Given the description of an element on the screen output the (x, y) to click on. 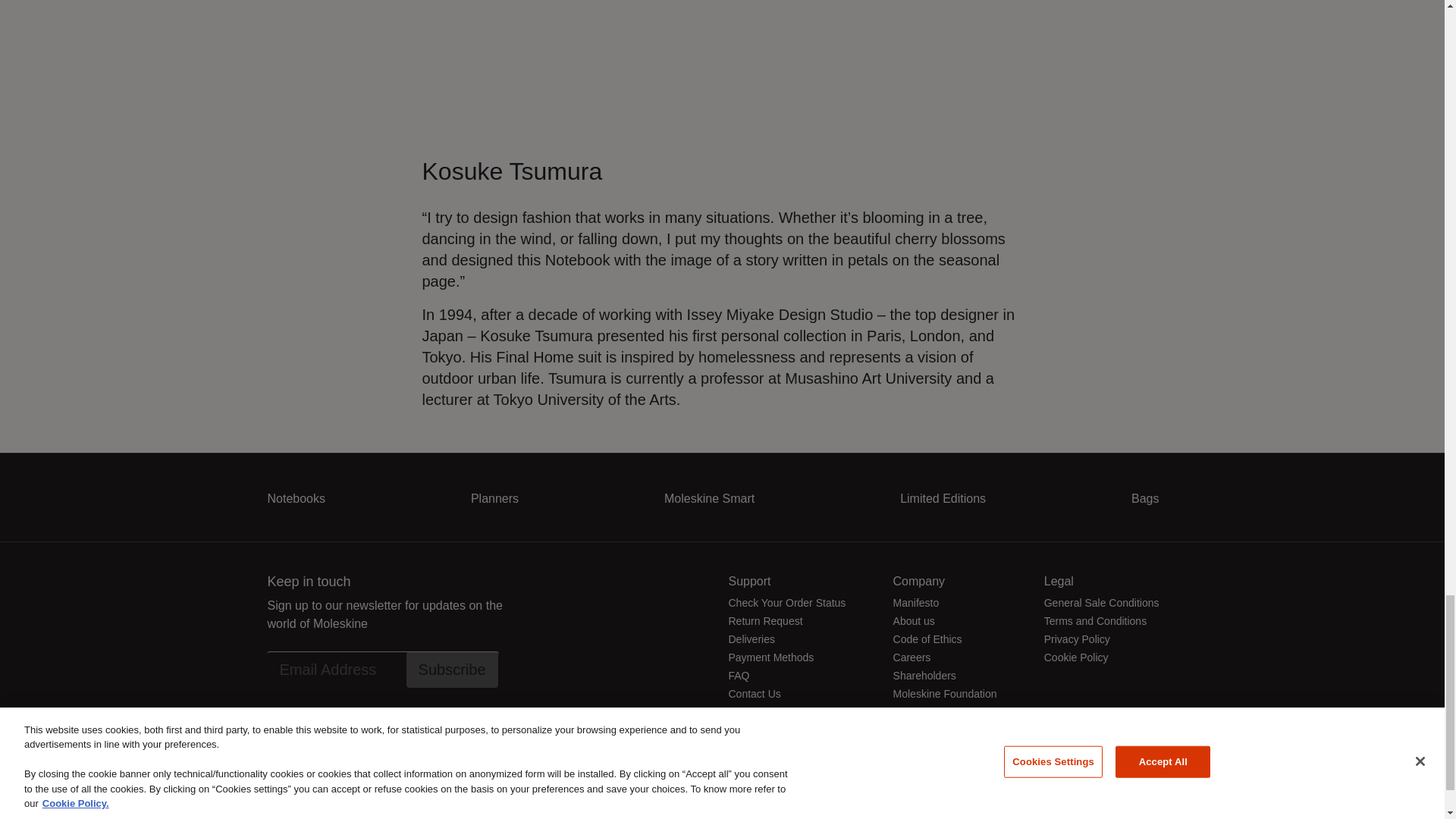
Notebooks (295, 498)
